Given the description of an element on the screen output the (x, y) to click on. 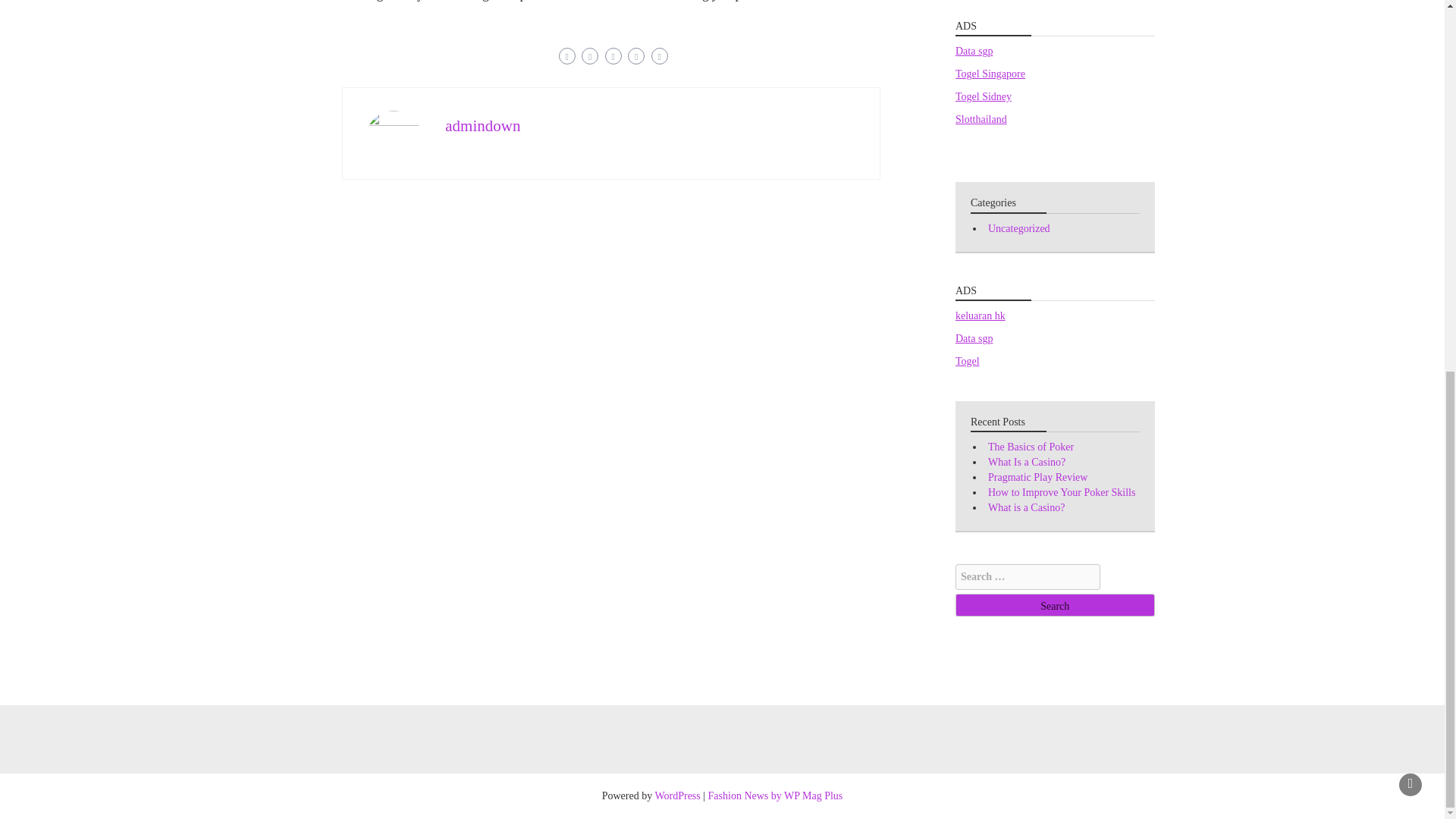
Search for: (1027, 576)
Search (1054, 604)
admindown (482, 126)
Search (1054, 604)
